Given the description of an element on the screen output the (x, y) to click on. 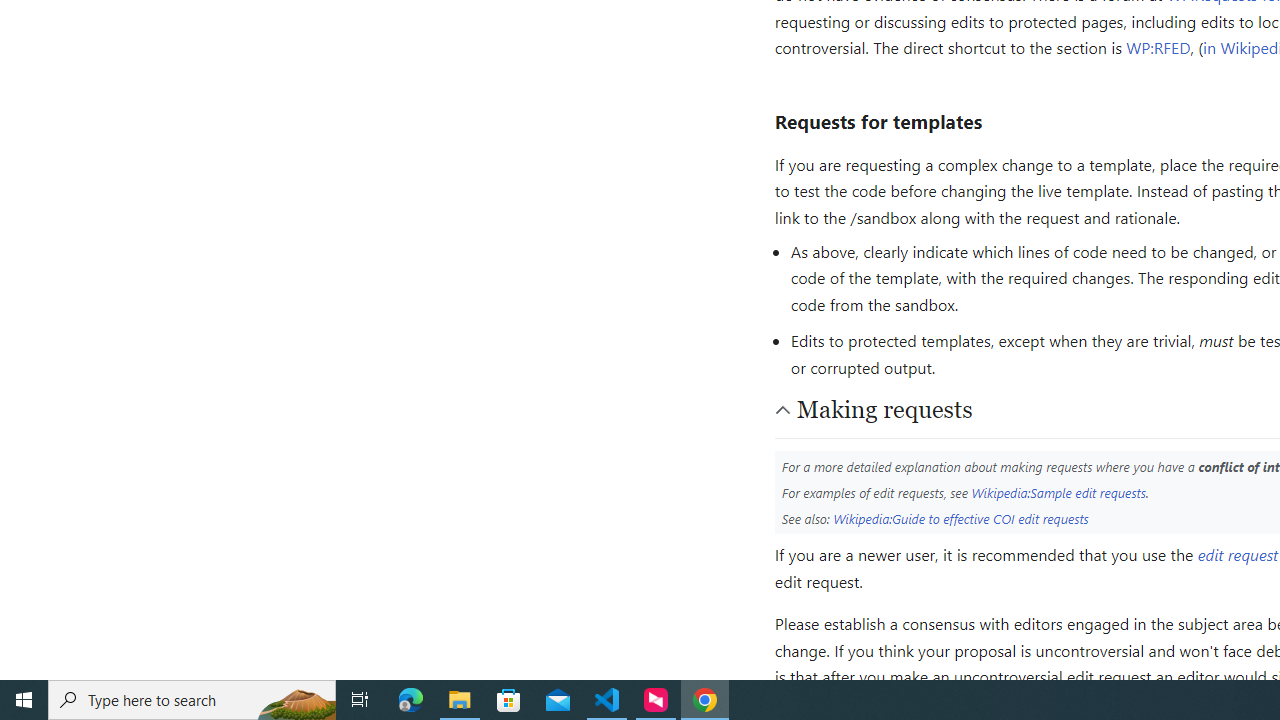
Wikipedia:Sample edit requests (1058, 492)
Wikipedia:Guide to effective COI edit requests (961, 518)
WP:RFED (1158, 47)
